Given the description of an element on the screen output the (x, y) to click on. 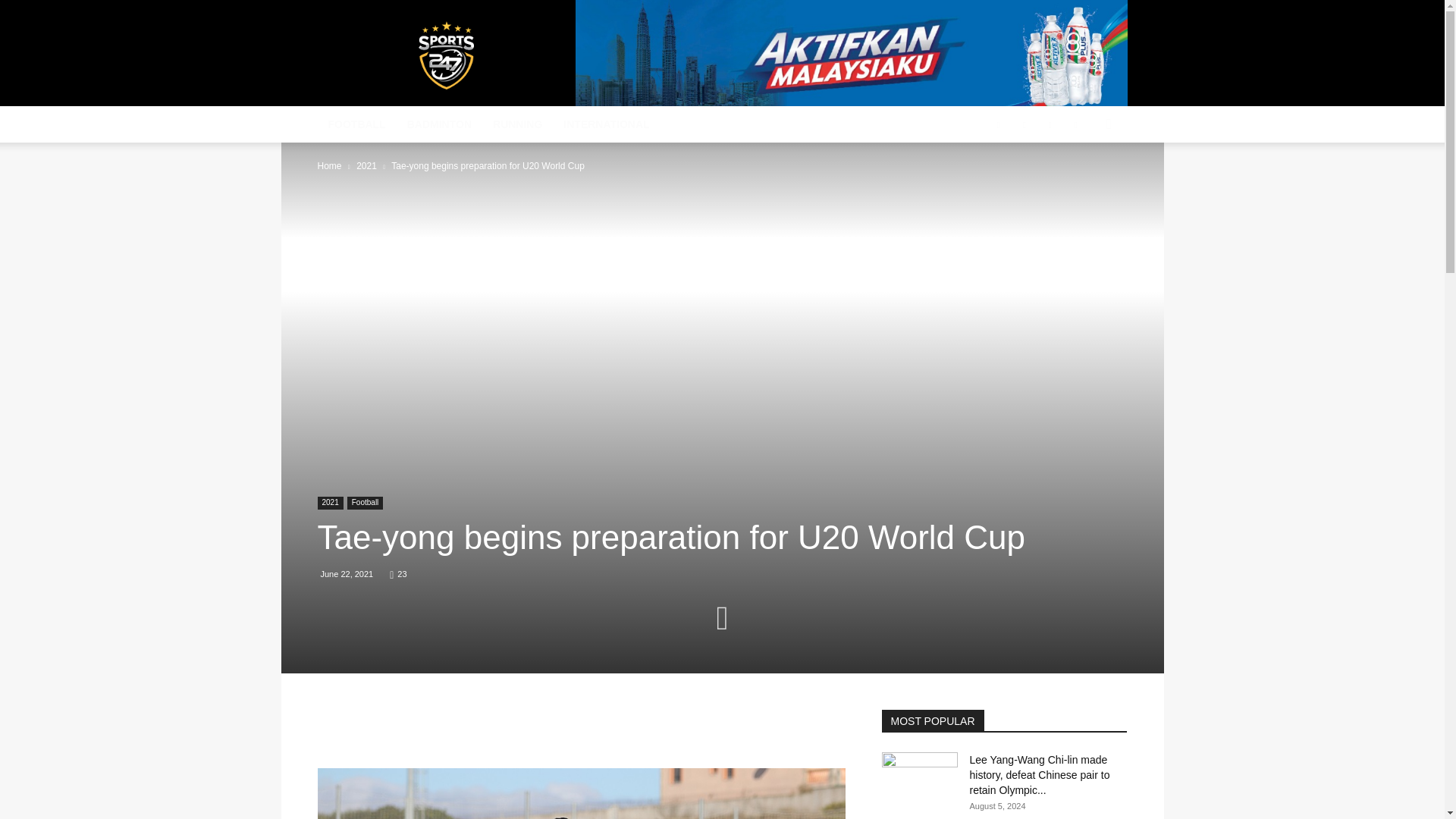
FOOTBALL (356, 124)
BADMINTON (438, 124)
